Given the description of an element on the screen output the (x, y) to click on. 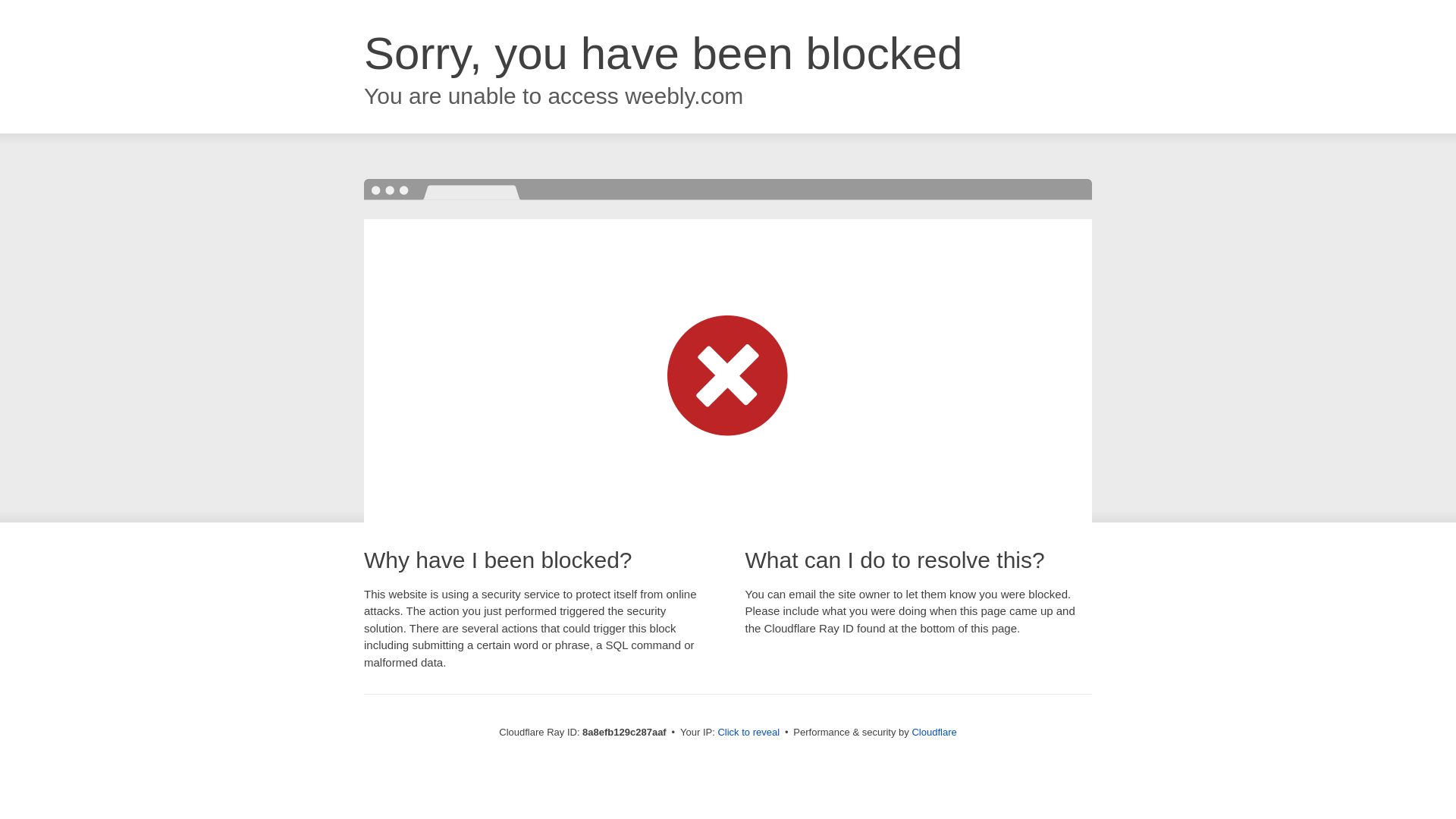
Cloudflare (933, 731)
Click to reveal (747, 732)
